Given the description of an element on the screen output the (x, y) to click on. 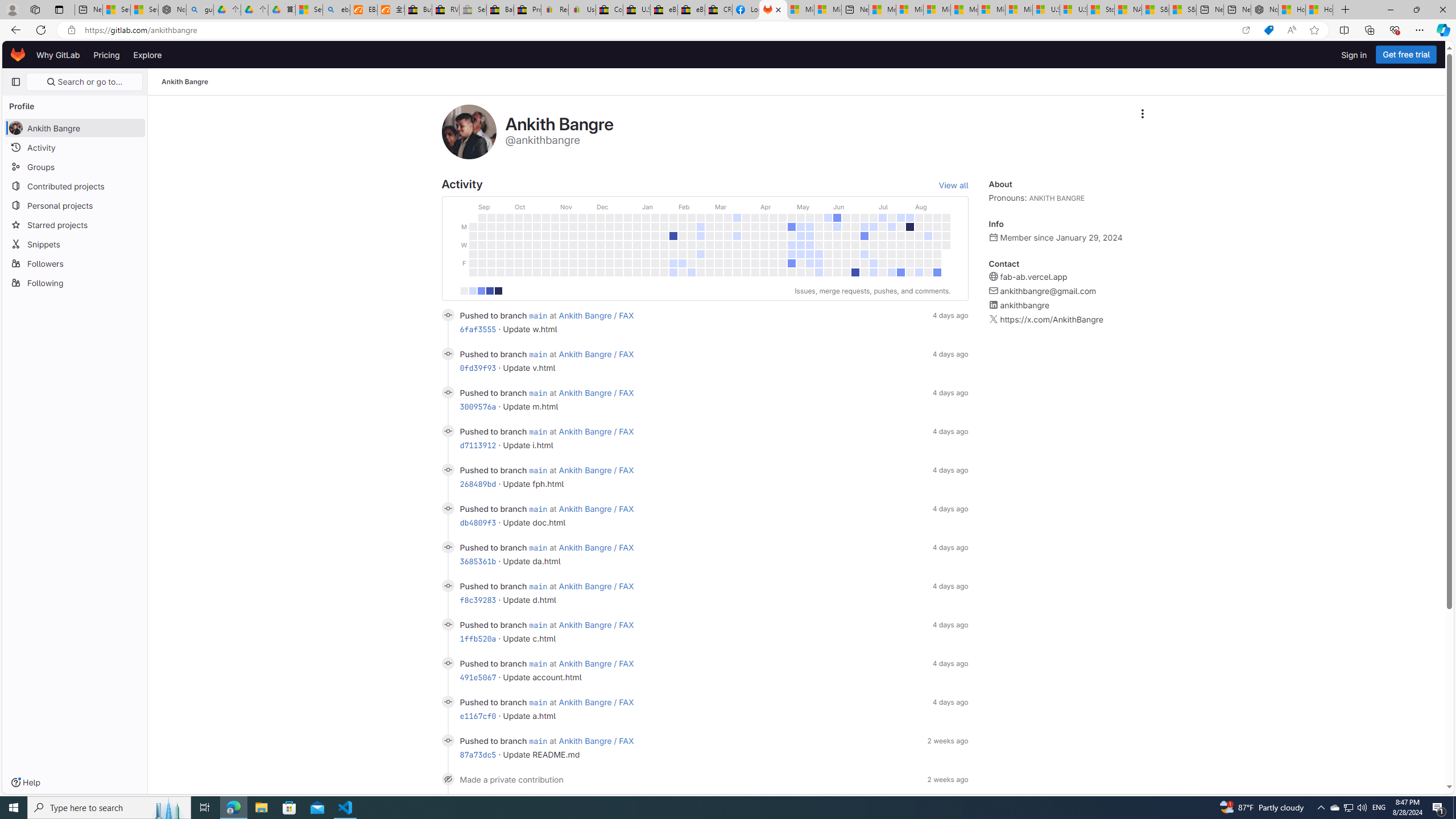
ankithbangre@gmail.com (1048, 291)
Pricing (106, 54)
